Given the description of an element on the screen output the (x, y) to click on. 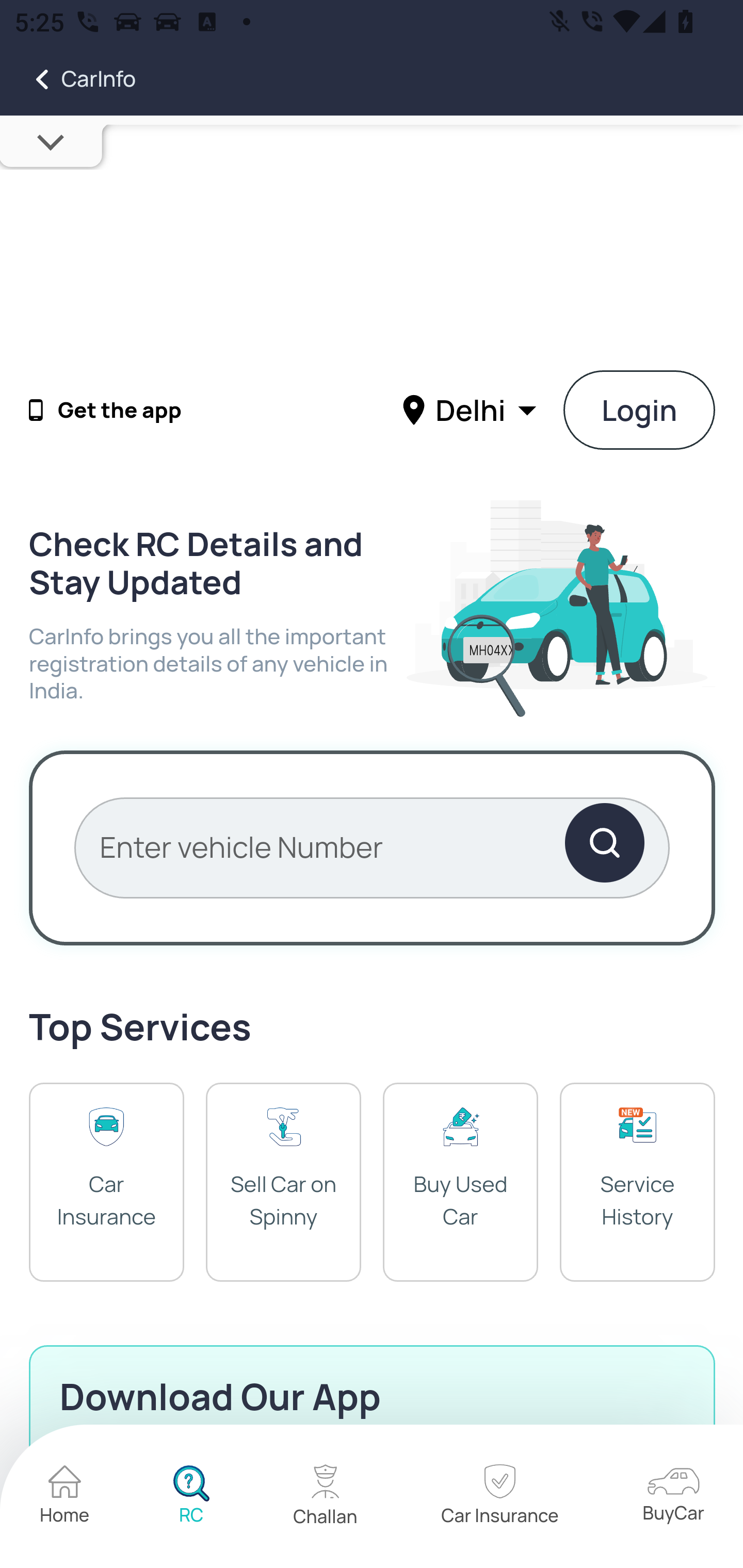
CarInfo (67, 79)
Login (639, 409)
Delhi (471, 408)
Get the app (119, 410)
search (603, 847)
topservices Buy Used Car topservices Buy Used Car (459, 1181)
home Challan home Challan (325, 1496)
home Home home Home (64, 1496)
home RC home RC (191, 1496)
home Car Insurance home Car Insurance (499, 1497)
home BuyCar home BuyCar (672, 1496)
